Given the description of an element on the screen output the (x, y) to click on. 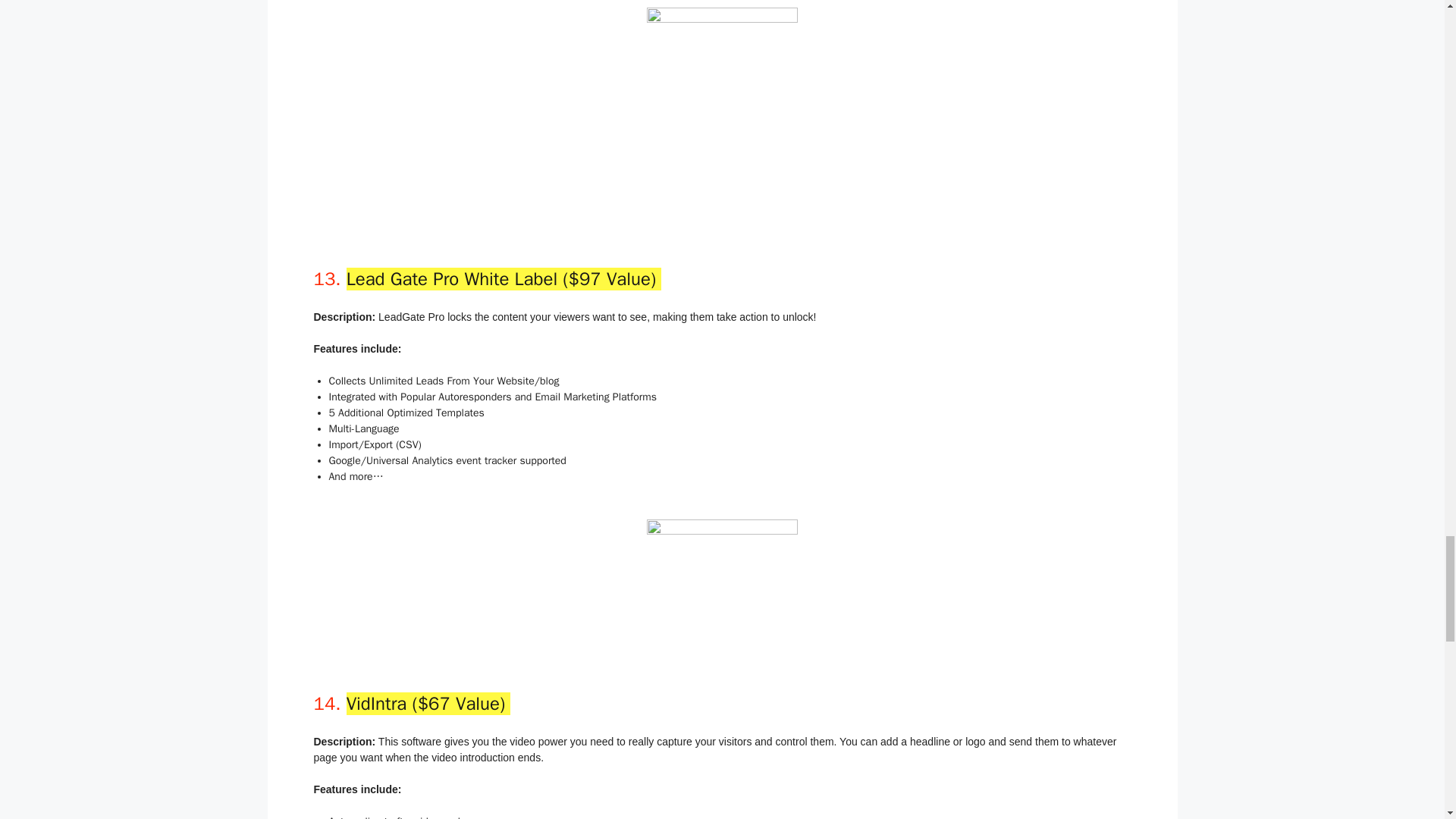
ulead gate bonus (721, 573)
